Given the description of an element on the screen output the (x, y) to click on. 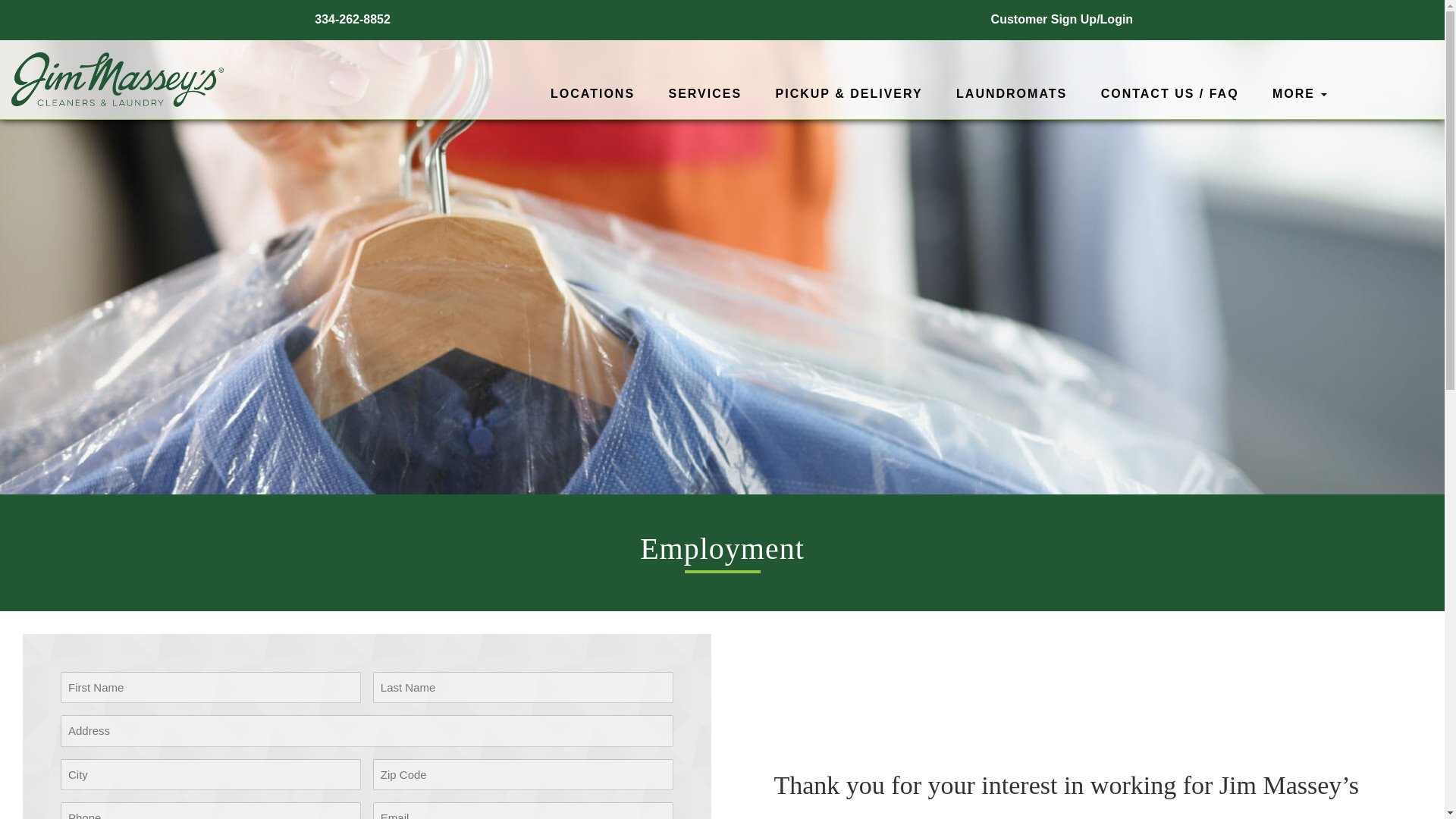
Locations (592, 95)
MORE (1299, 95)
Laundromats (1011, 95)
LAUNDROMATS (1011, 95)
 334-262-8852 (350, 19)
Call Us (350, 19)
Home (117, 79)
Services (705, 95)
LOCATIONS (592, 95)
SERVICES (705, 95)
